Given the description of an element on the screen output the (x, y) to click on. 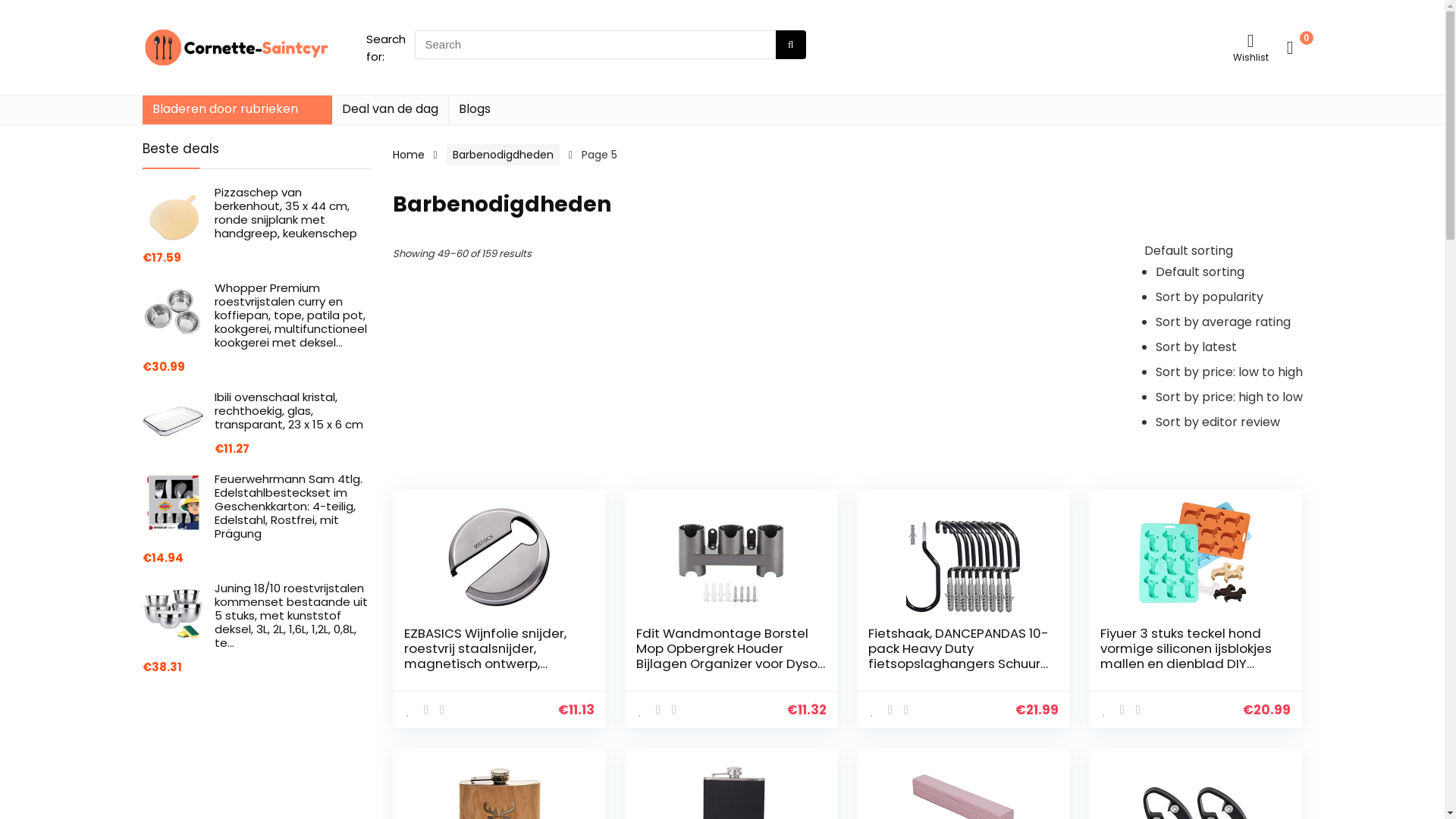
Deal van de dag Element type: text (390, 109)
Bladeren door rubrieken Element type: text (236, 109)
Home Element type: text (408, 154)
Blogs Element type: text (474, 109)
Barbenodigdheden Element type: text (502, 154)
